Given the description of an element on the screen output the (x, y) to click on. 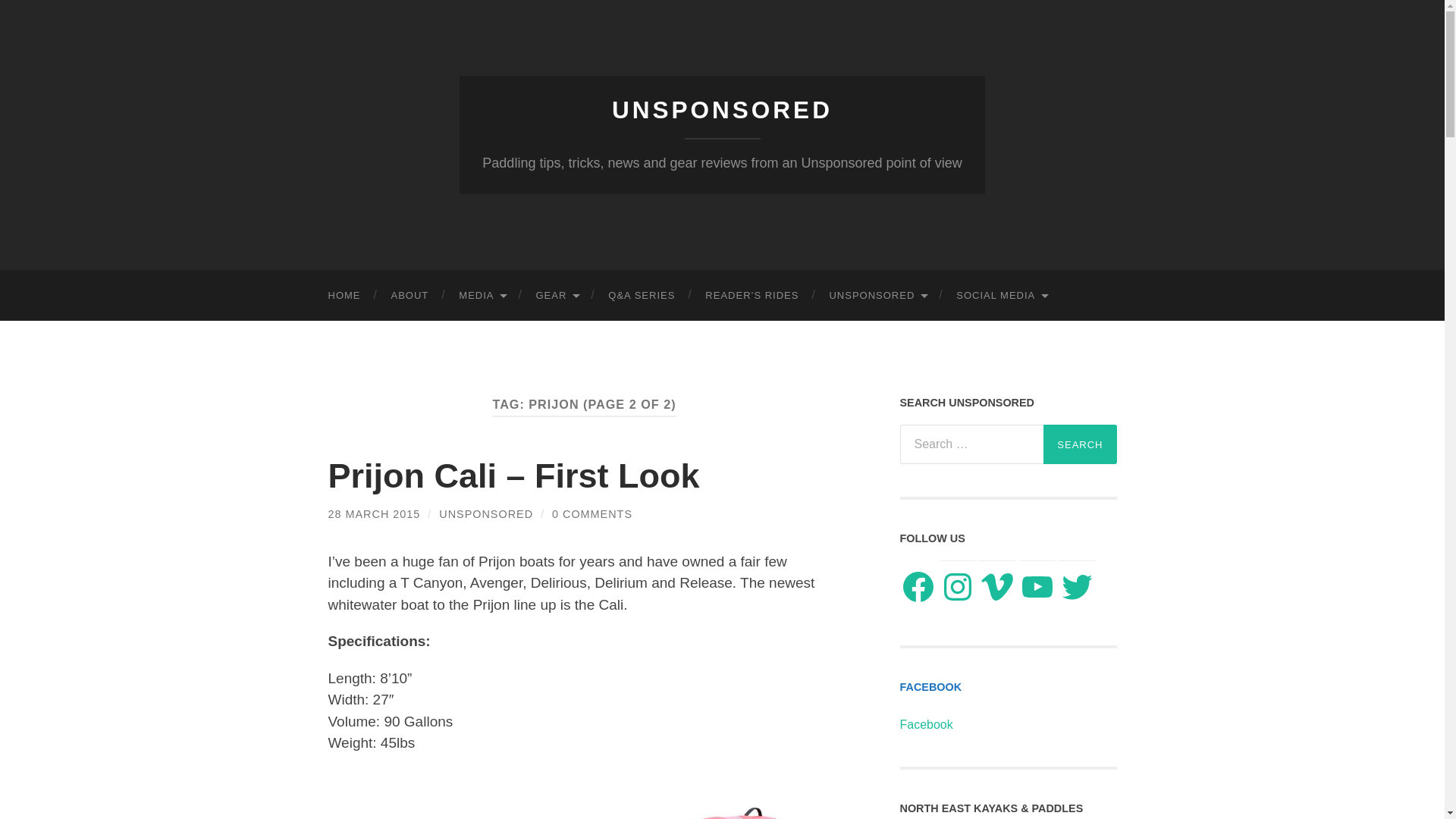
Posts by Unsponsored (485, 513)
Search (1079, 444)
HOME (344, 295)
Search (1079, 444)
ABOUT (409, 295)
MEDIA (481, 295)
GEAR (555, 295)
UNSPONSORED (721, 109)
SOCIAL MEDIA (1000, 295)
UNSPONSORED (876, 295)
